Given the description of an element on the screen output the (x, y) to click on. 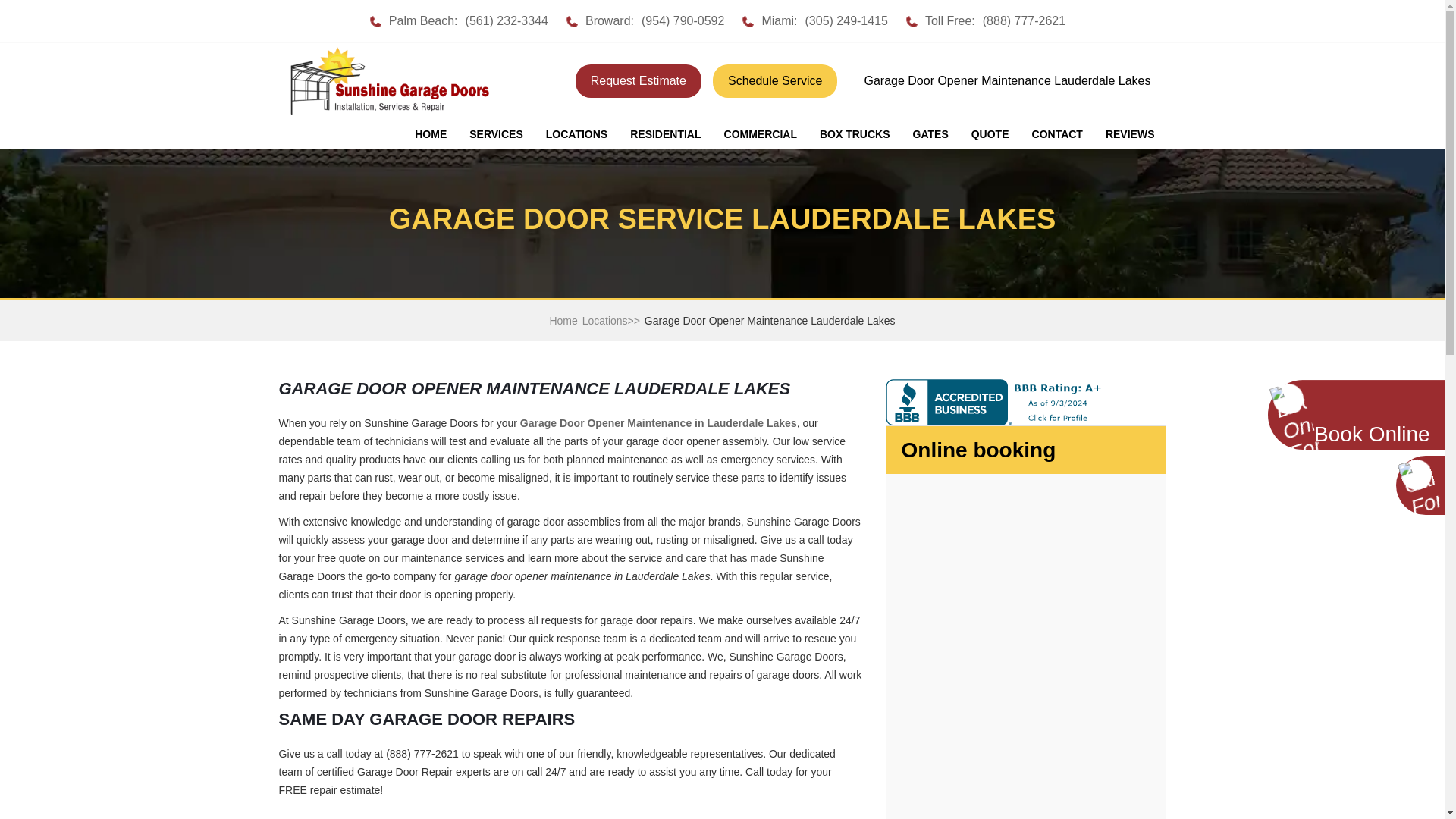
CONTACT (1057, 133)
REVIEWS (1129, 133)
GATES (930, 133)
LOCATIONS (576, 133)
BOX TRUCKS (854, 133)
Schedule Service (775, 80)
SERVICES (495, 133)
COMMERCIAL (759, 133)
HOME (430, 133)
